Given the description of an element on the screen output the (x, y) to click on. 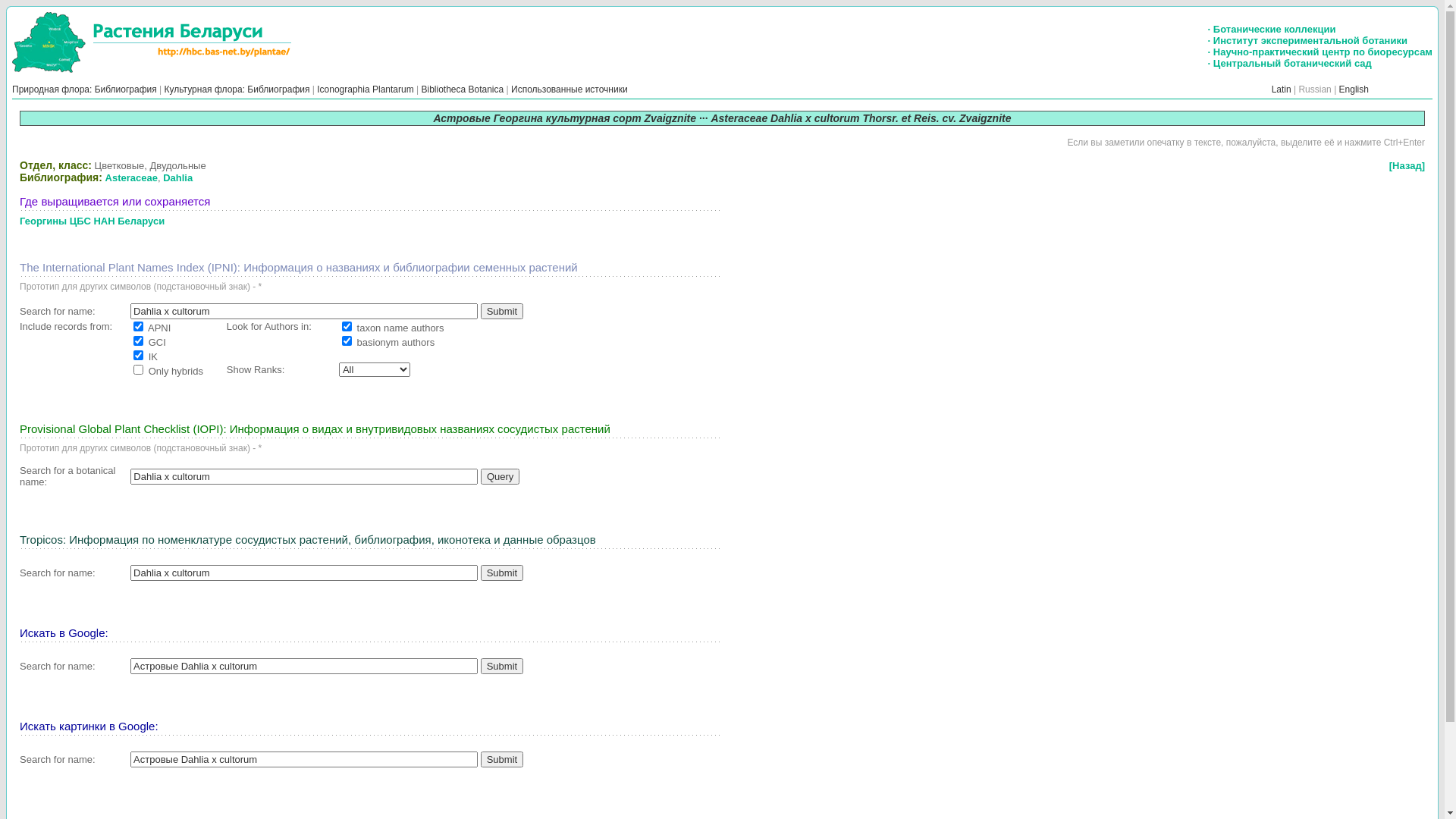
Submit Element type: text (501, 572)
Query Element type: text (499, 476)
Asteraceae Element type: text (131, 177)
Dahlia Element type: text (177, 177)
Iconographia Plantarum Element type: text (364, 89)
Submit Element type: text (501, 311)
Latin Element type: text (1281, 89)
Submit Element type: text (501, 759)
English Element type: text (1353, 89)
Submit Element type: text (501, 666)
Bibliotheca Botanica Element type: text (461, 89)
